Given the description of an element on the screen output the (x, y) to click on. 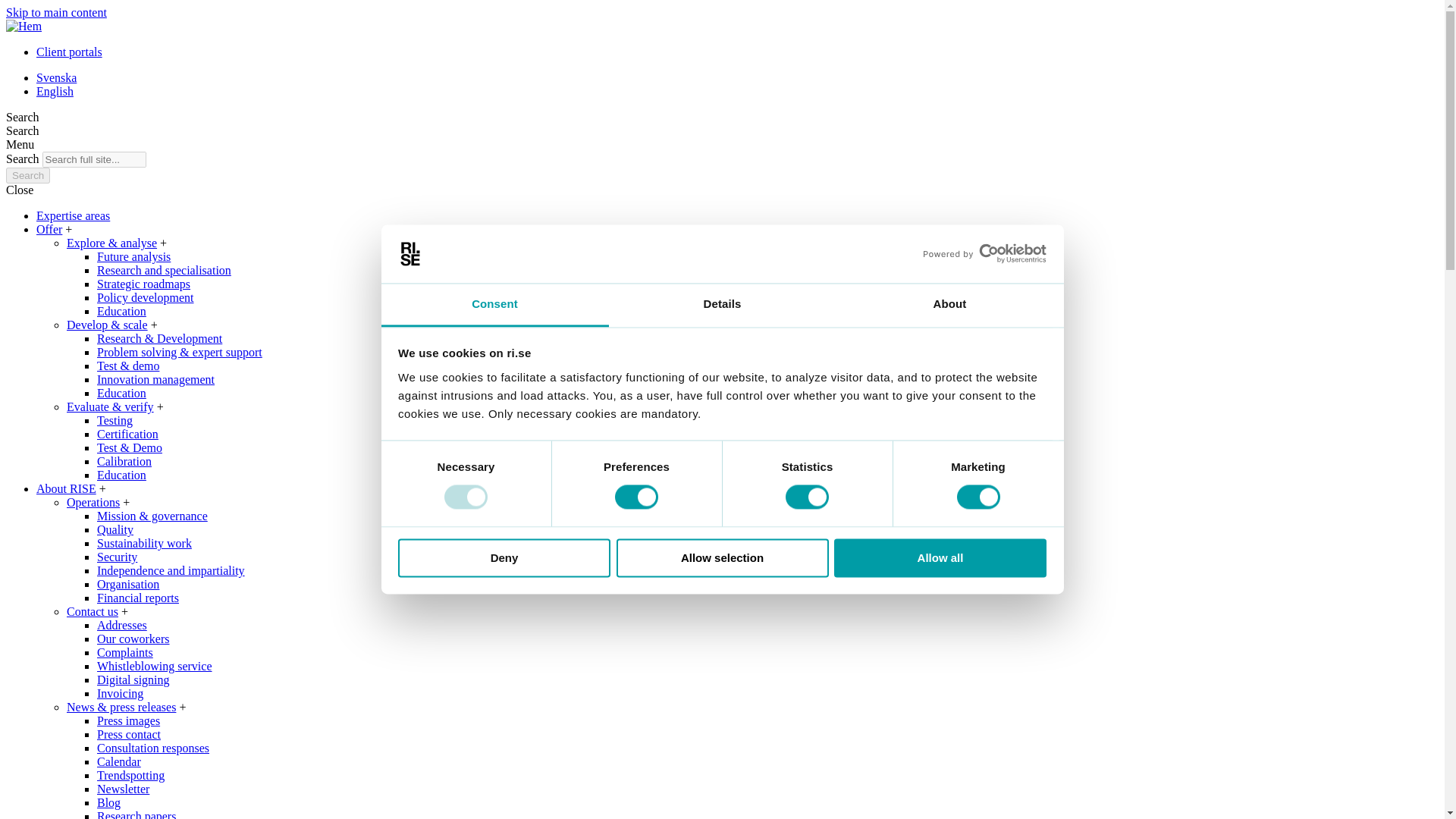
Enter the terms you wish to search for. (94, 159)
Research papers (136, 814)
Allow selection (721, 557)
Consent (494, 304)
Skip to main content (55, 11)
Deny (503, 557)
Search (27, 175)
Calendar (119, 761)
Allow all (940, 557)
Hem (23, 25)
